Given the description of an element on the screen output the (x, y) to click on. 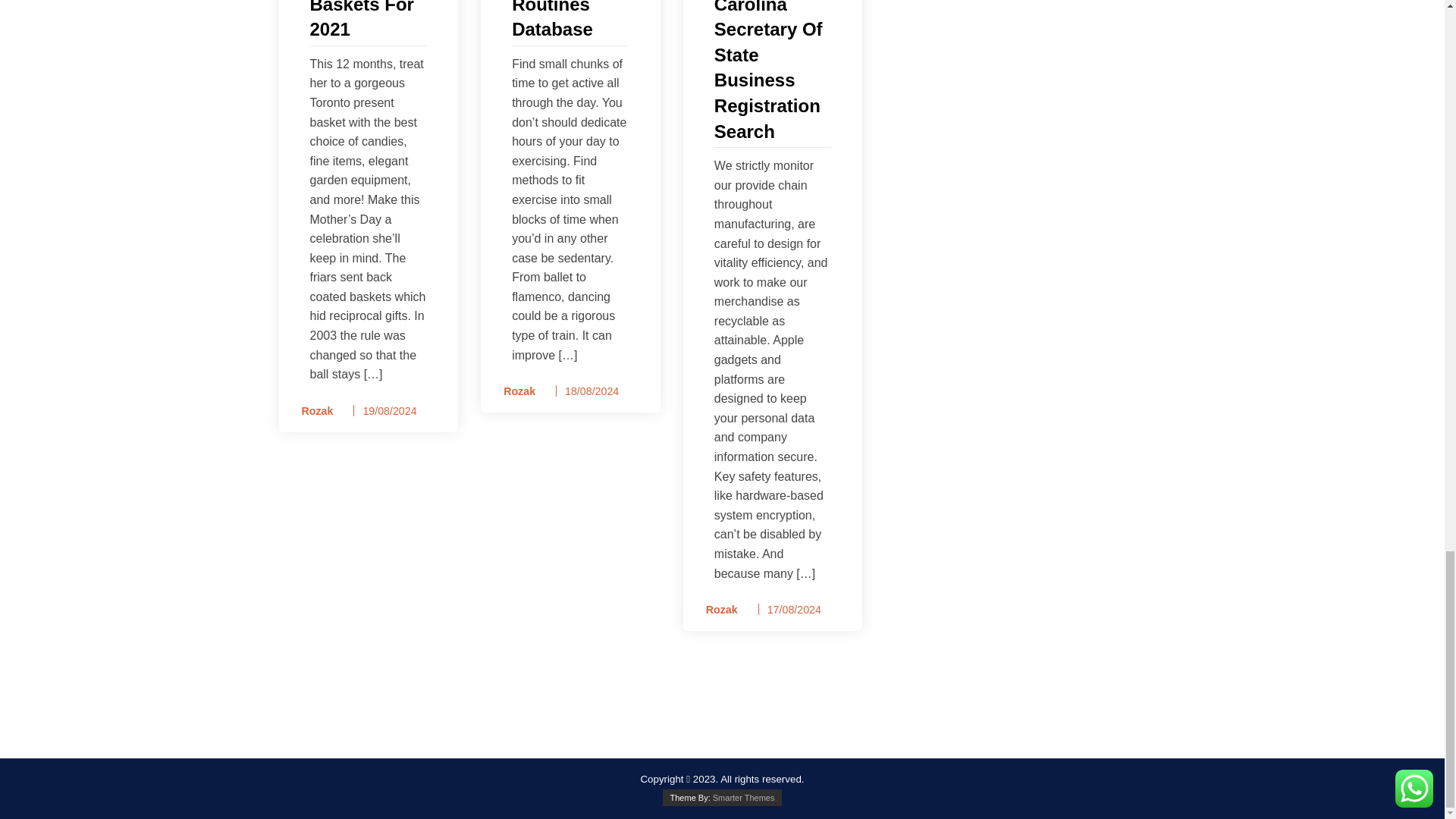
Rozak (312, 411)
Rozak (716, 610)
Workout Routines Database (570, 21)
50 Hottest Baskets For 2021 (367, 21)
Rozak (514, 391)
